Given the description of an element on the screen output the (x, y) to click on. 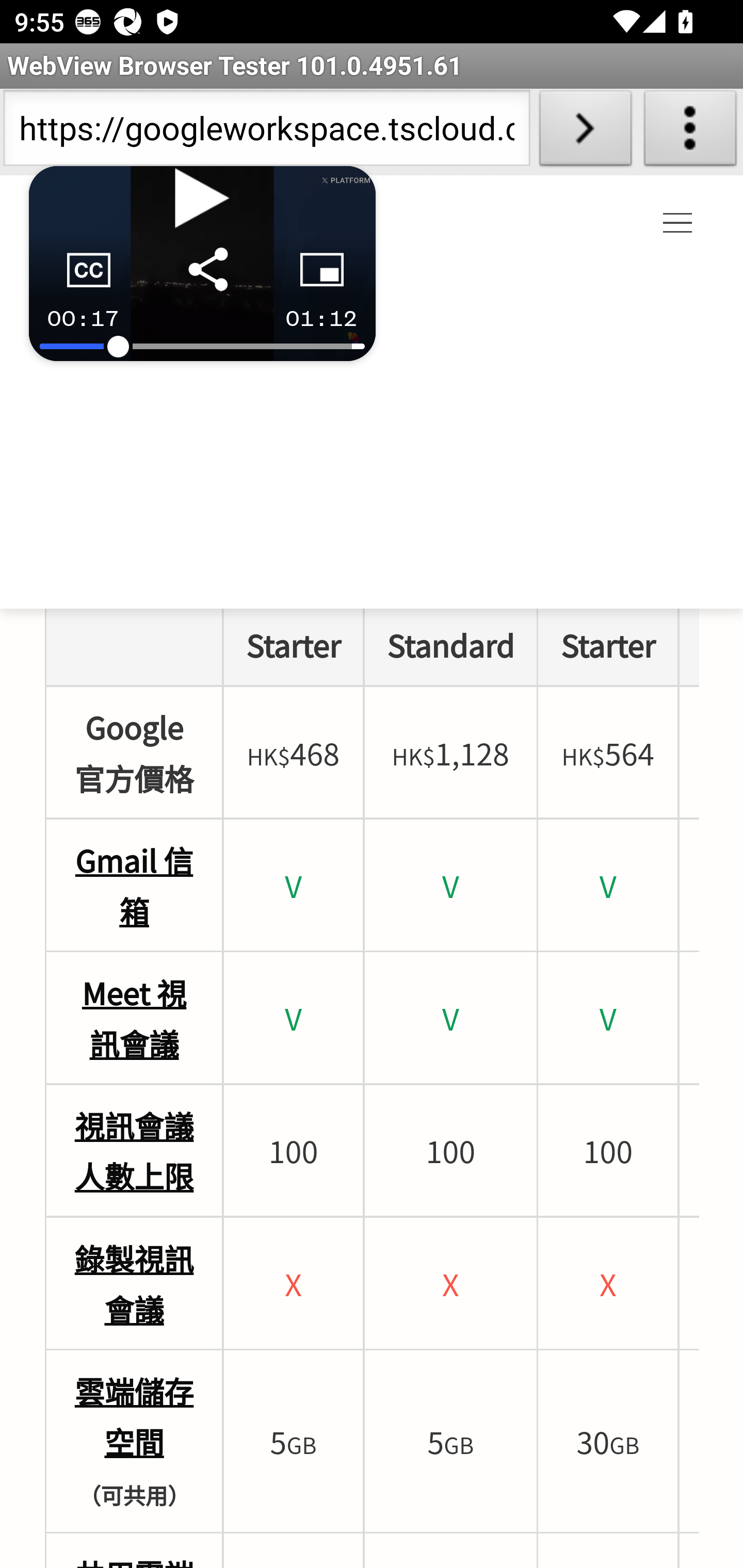
Load URL (585, 132)
About WebView (690, 132)
javascript:void(0) (677, 224)
Gmail 信箱 (133, 884)
Meet 視訊會議 (133, 1018)
視訊會議人數上限 (133, 1150)
錄製視訊會議 (133, 1284)
雲端儲存空間 (133, 1416)
